Given the description of an element on the screen output the (x, y) to click on. 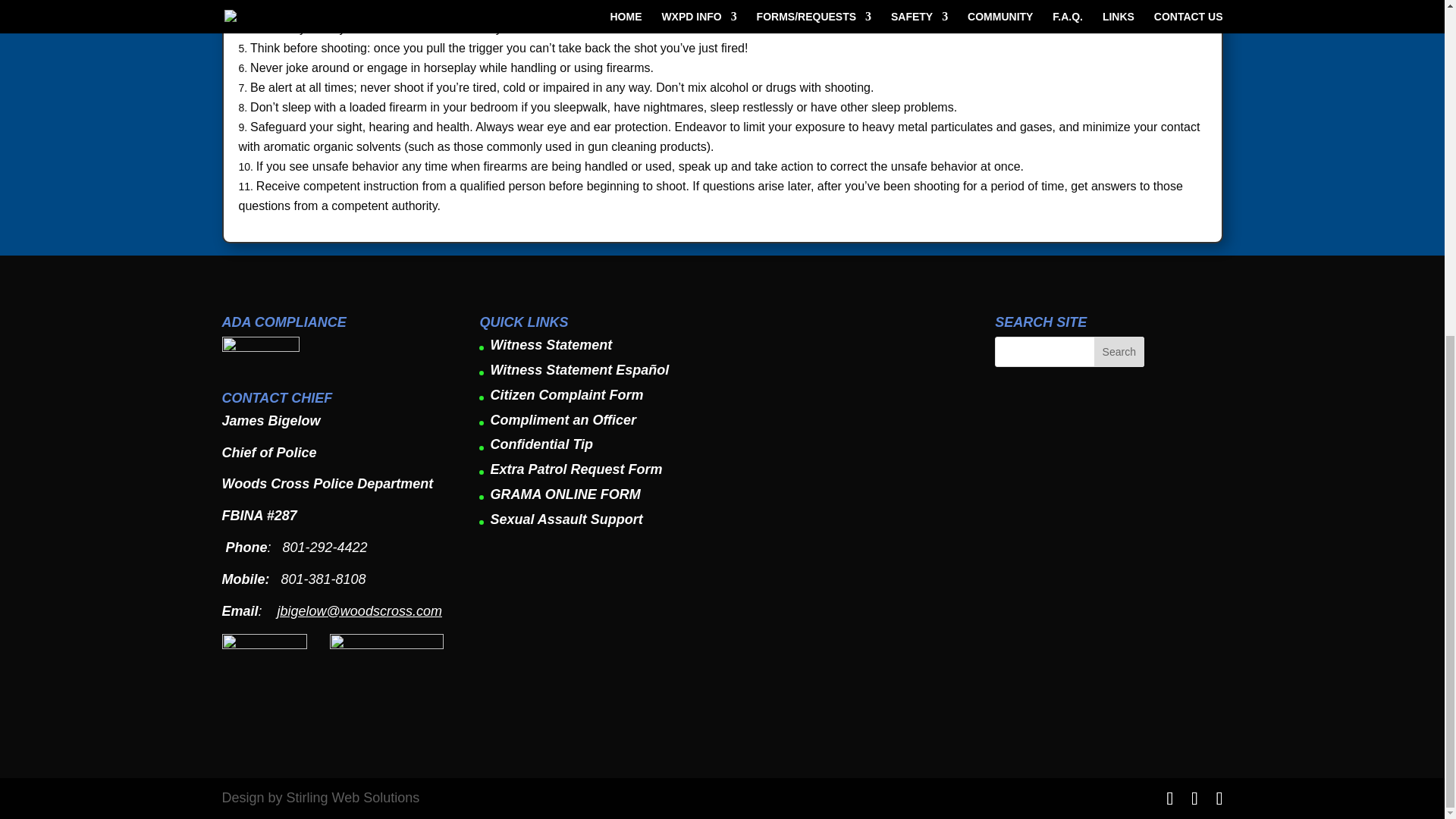
Extra Patrol Request Form (575, 468)
Search (1119, 351)
Sexual Assault Support (565, 519)
Witness Statement (550, 344)
Search (1119, 351)
Compliment an Officer (562, 419)
GRAMA ONLINE FORM (564, 494)
Confidential Tip (540, 444)
Citizen Complaint Form (566, 394)
